Given the description of an element on the screen output the (x, y) to click on. 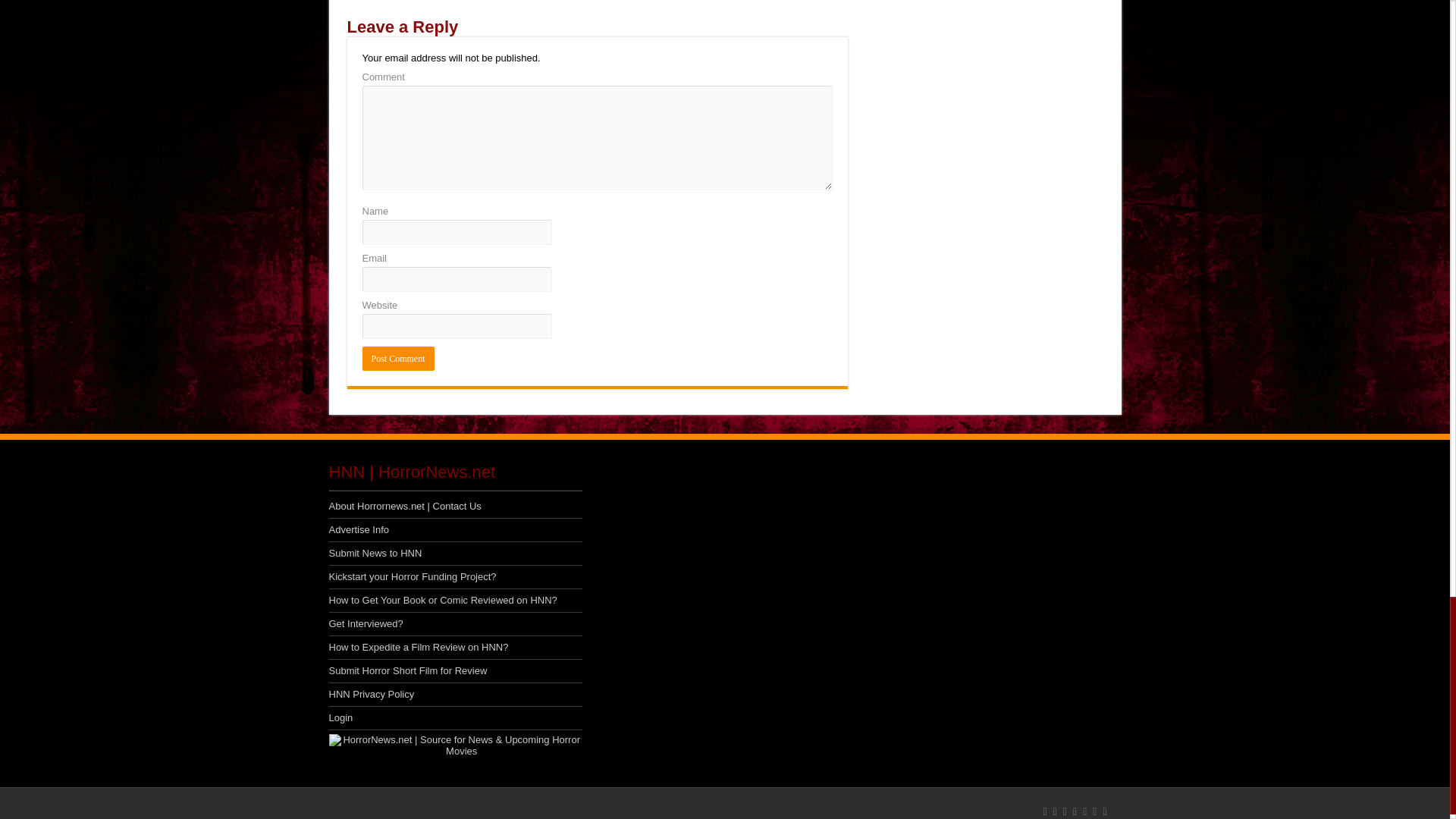
Post Comment (397, 358)
